Given the description of an element on the screen output the (x, y) to click on. 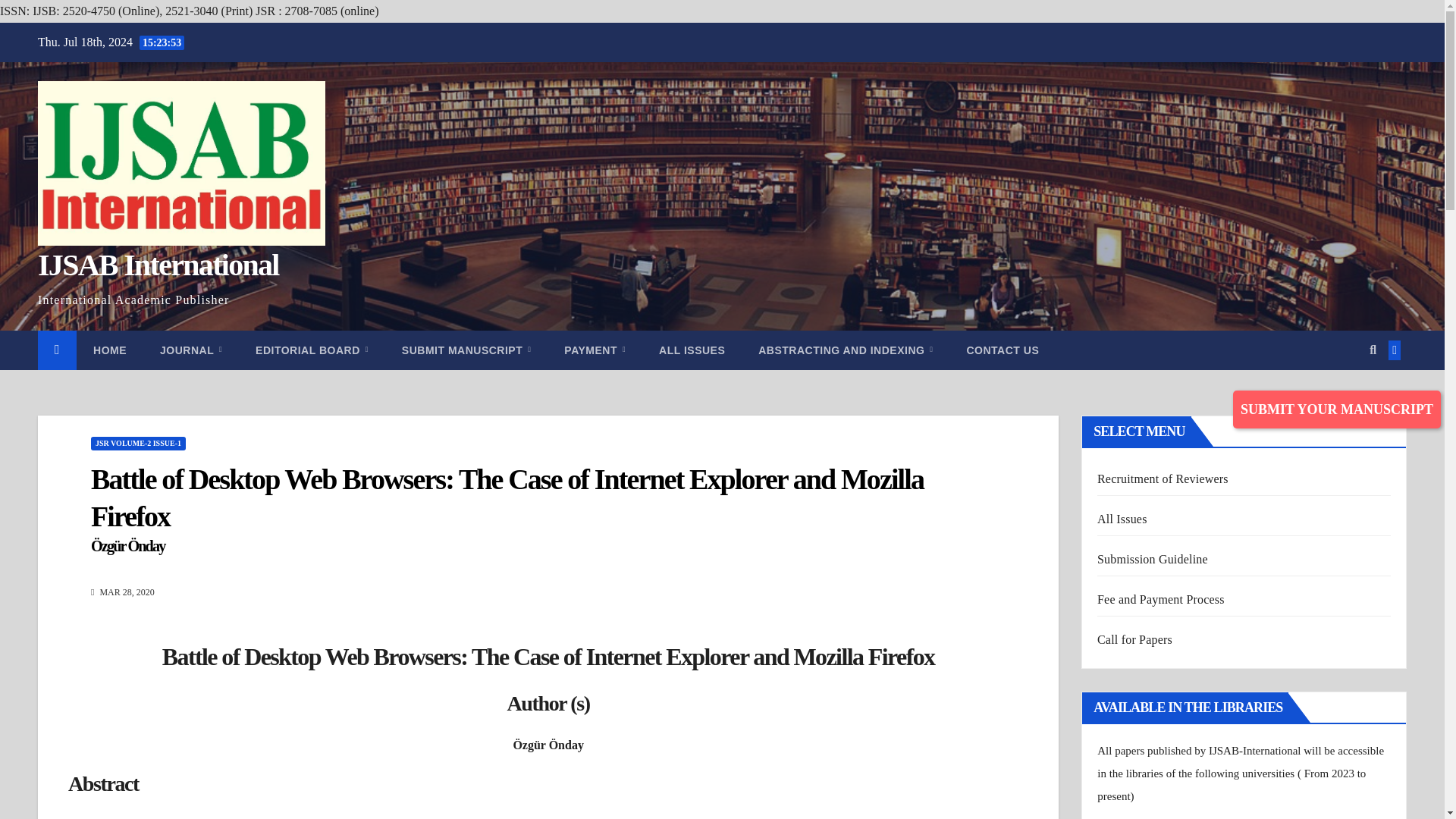
Journal (190, 350)
JSR VOLUME-2 ISSUE-1 (138, 443)
Home (109, 350)
Submit manuscript (466, 350)
PAYMENT (594, 350)
SUBMIT MANUSCRIPT (466, 350)
CONTACT US (1002, 350)
Payment (594, 350)
Editorial Board (311, 350)
JOURNAL (190, 350)
EDITORIAL BOARD (311, 350)
ABSTRACTING AND INDEXING (845, 350)
ALL ISSUES (691, 350)
IJSAB International (158, 264)
